Given the description of an element on the screen output the (x, y) to click on. 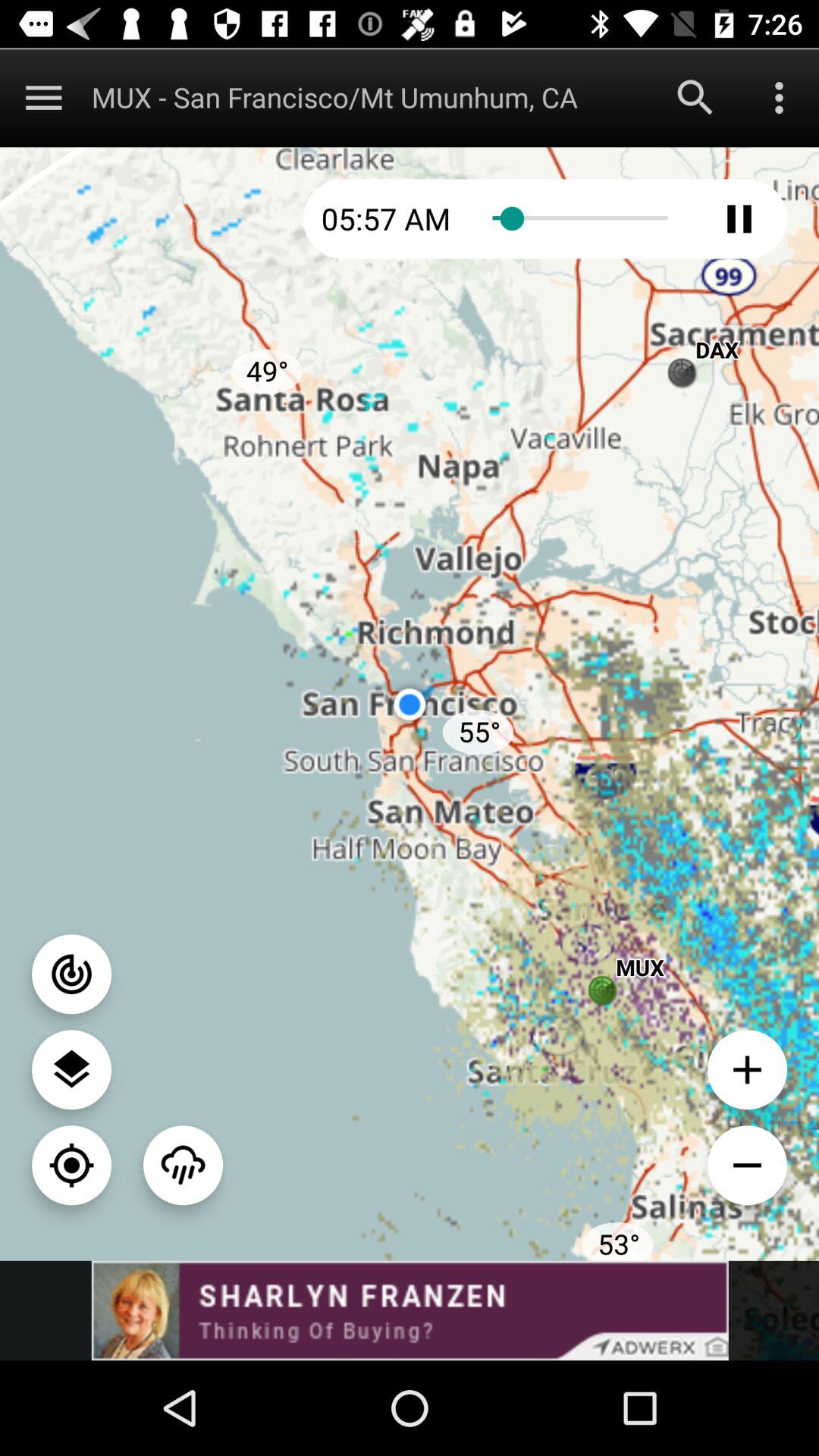
point button (71, 974)
